Given the description of an element on the screen output the (x, y) to click on. 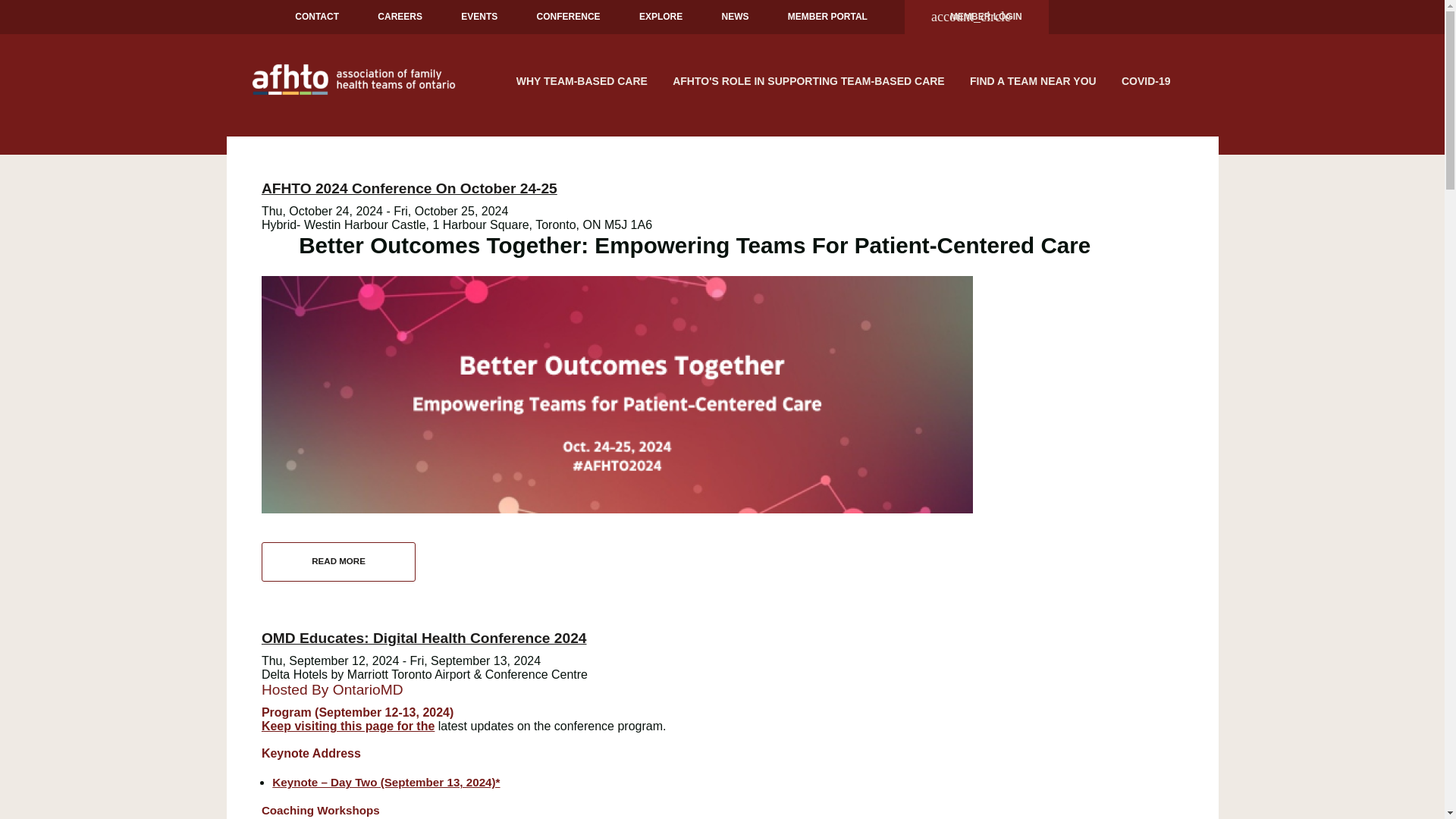
CONFERENCE (568, 17)
Keep visiting this page for the (347, 725)
CONTACT (316, 17)
AFHTO 2024 Conference On October 24-25 (409, 188)
COVID-19 (1145, 80)
CAREERS (399, 17)
AFHTO'S ROLE IN SUPPORTING TEAM-BASED CARE (809, 80)
MEMBER LOGIN (976, 17)
EVENTS (478, 17)
EXPLORE (661, 17)
FIND A TEAM NEAR YOU (1032, 80)
WHY TEAM-BASED CARE (581, 80)
OMD Educates: Digital Health Conference 2024 (424, 637)
FACEBOOK (1086, 17)
